Given the description of an element on the screen output the (x, y) to click on. 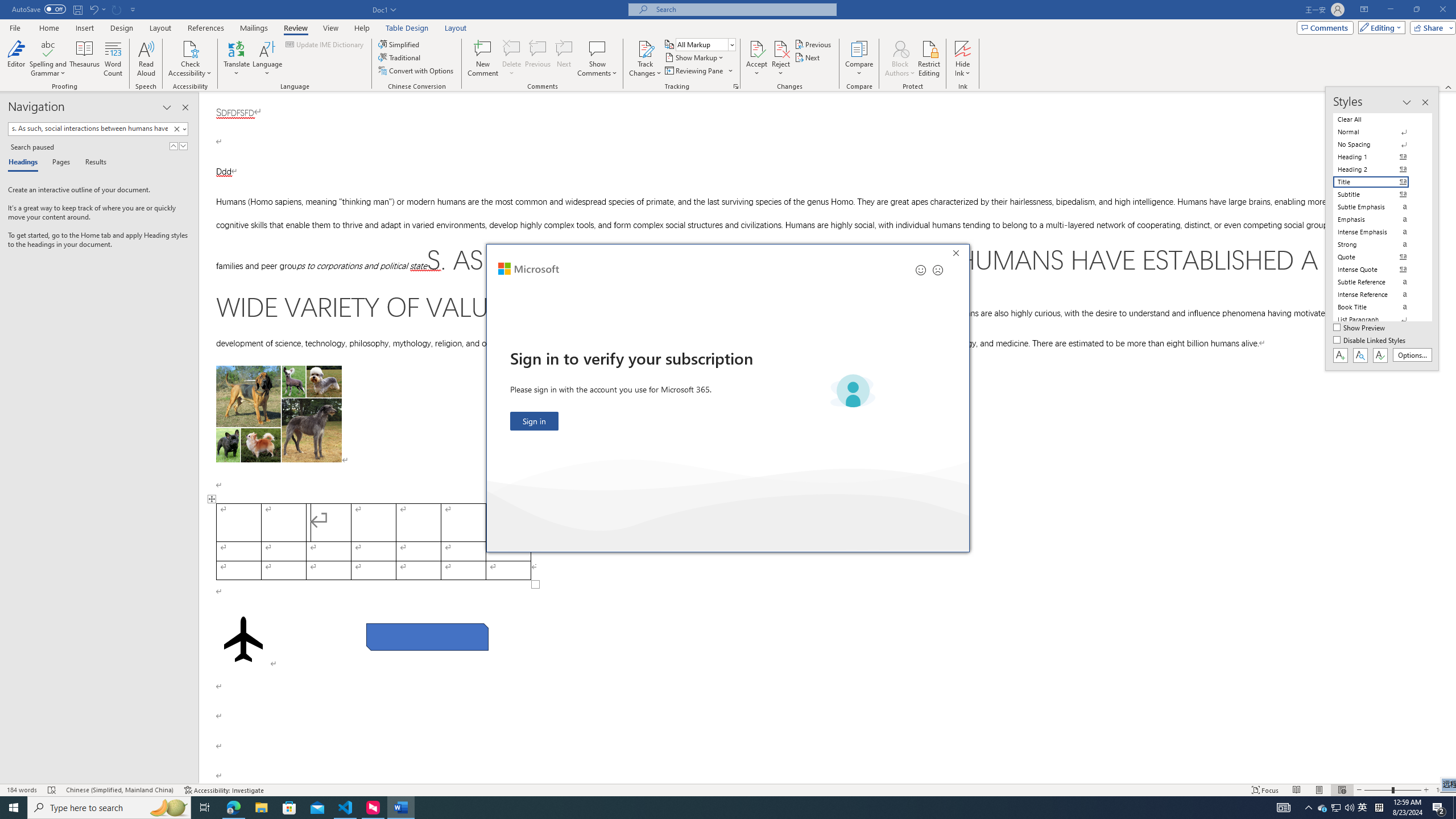
Check Accessibility (189, 48)
Subtle Reference (1377, 282)
Send a frown for feedback (937, 269)
Reviewing Pane (698, 69)
Check Accessibility (189, 58)
Simplified (400, 44)
Language (267, 58)
Intense Quote (1377, 269)
Microsoft Edge - 1 running window (233, 807)
